Given the description of an element on the screen output the (x, y) to click on. 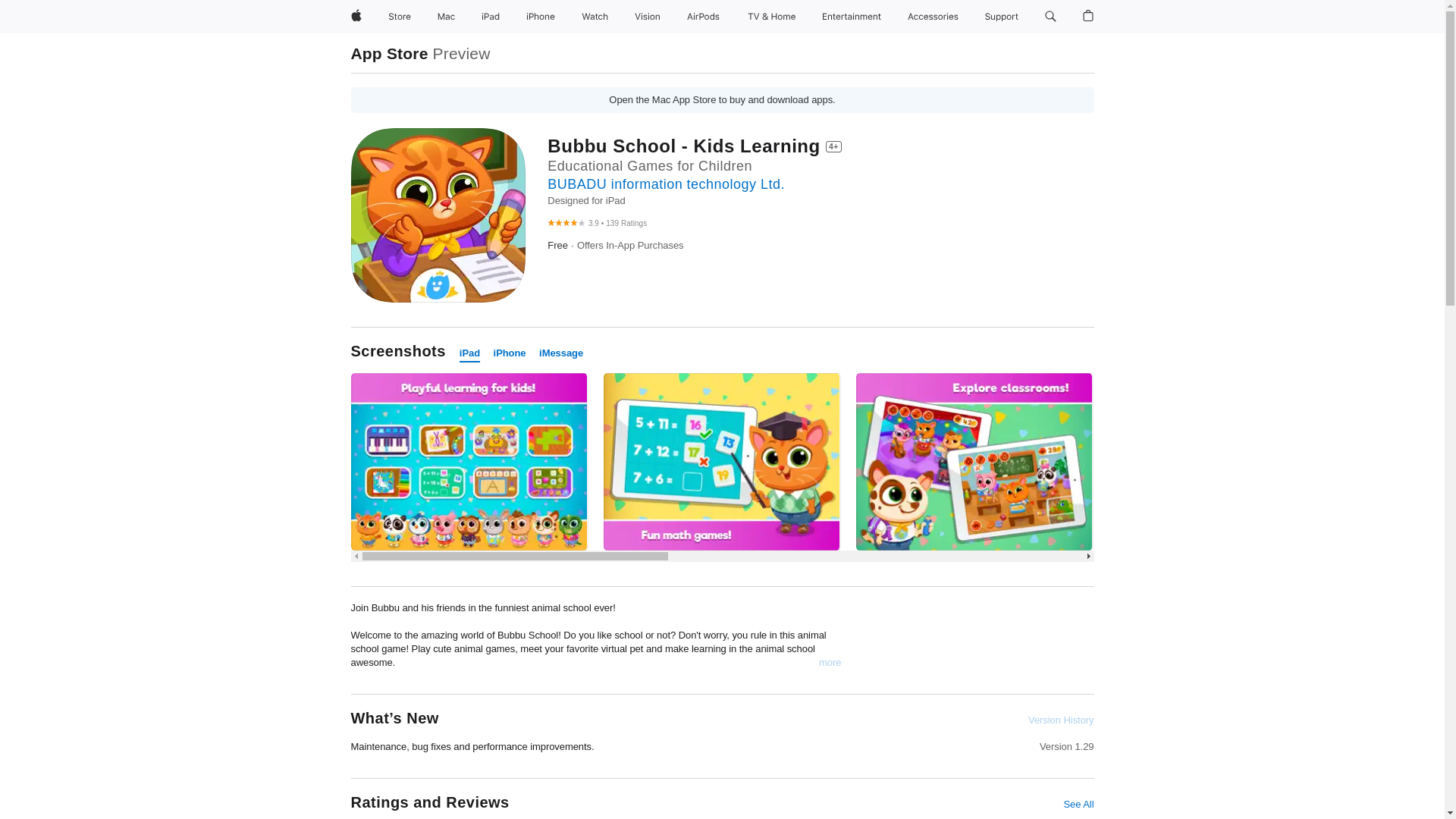
iPad (490, 16)
Version History (1060, 720)
Store (398, 16)
iPhone (539, 16)
App Store (389, 53)
BUBADU information technology Ltd. (665, 183)
iMessage (560, 353)
more (829, 662)
Entertainment (851, 16)
iPad (470, 353)
iPhone (509, 353)
Watch (594, 16)
Vision (647, 16)
AirPods (703, 16)
Support (1001, 16)
